Given the description of an element on the screen output the (x, y) to click on. 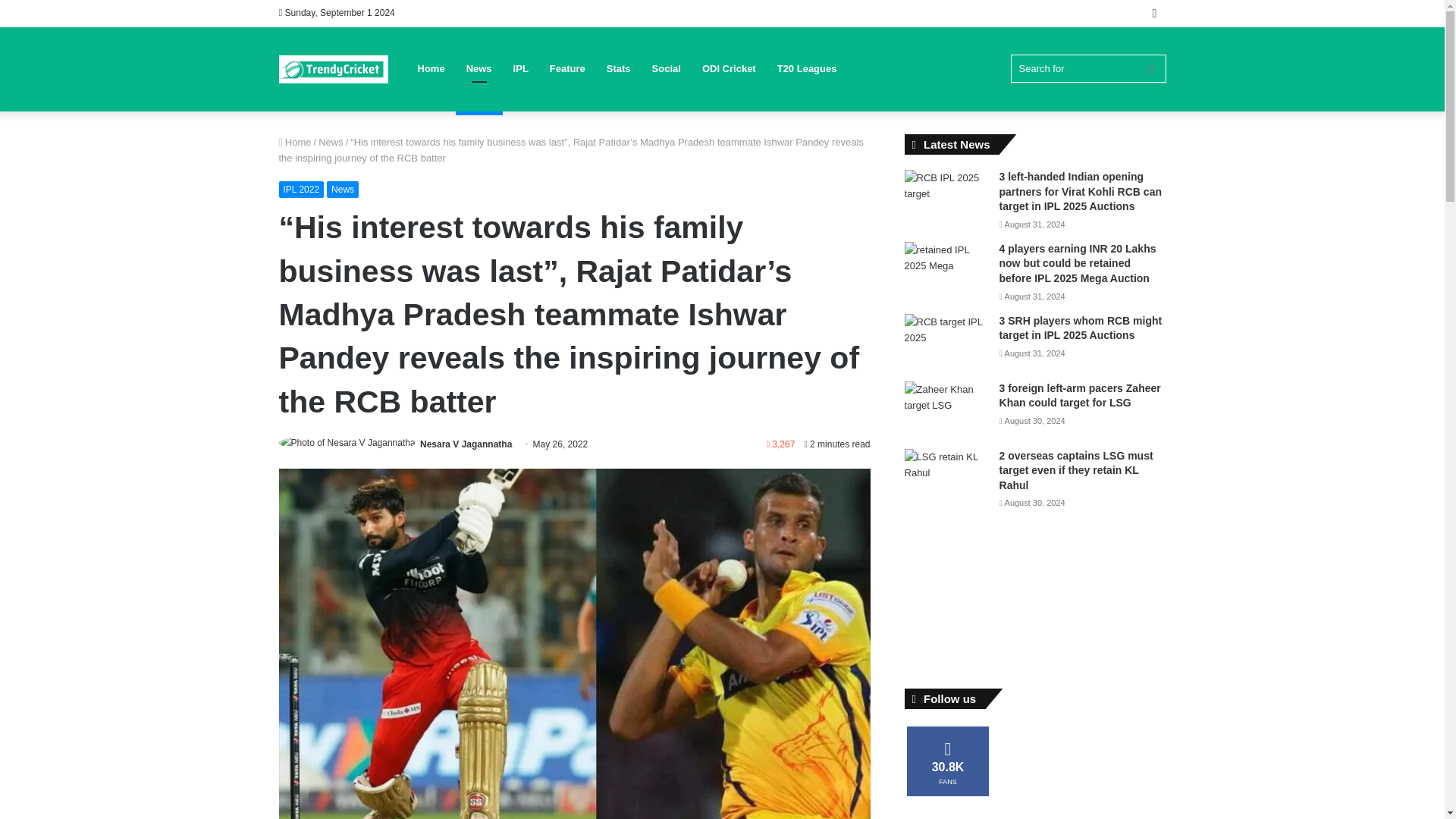
Nesara V Jagannatha (466, 443)
News (330, 142)
Nesara V Jagannatha (466, 443)
Home (295, 142)
Search for (1088, 68)
News (342, 189)
T20 Leagues (807, 68)
IPL 2022 (301, 189)
